Given the description of an element on the screen output the (x, y) to click on. 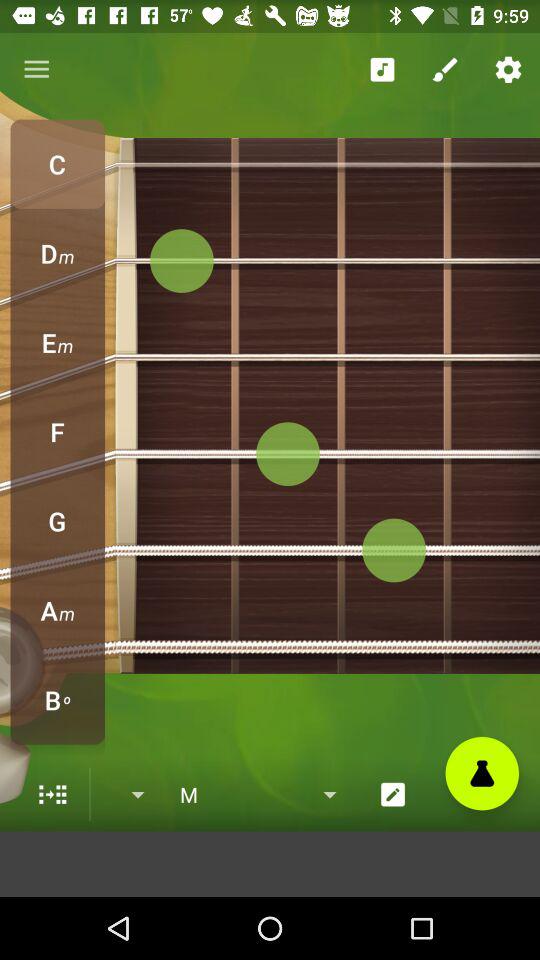
menu page (52, 794)
